Given the description of an element on the screen output the (x, y) to click on. 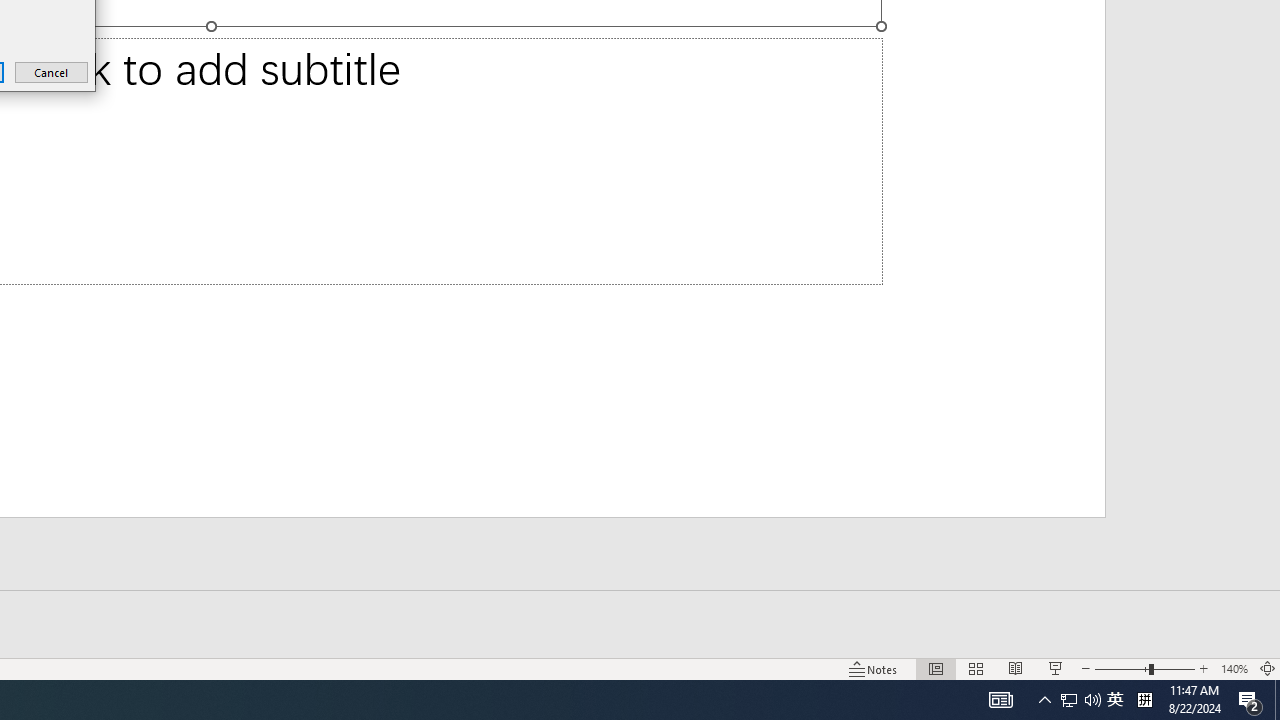
Cancel (51, 72)
